Given the description of an element on the screen output the (x, y) to click on. 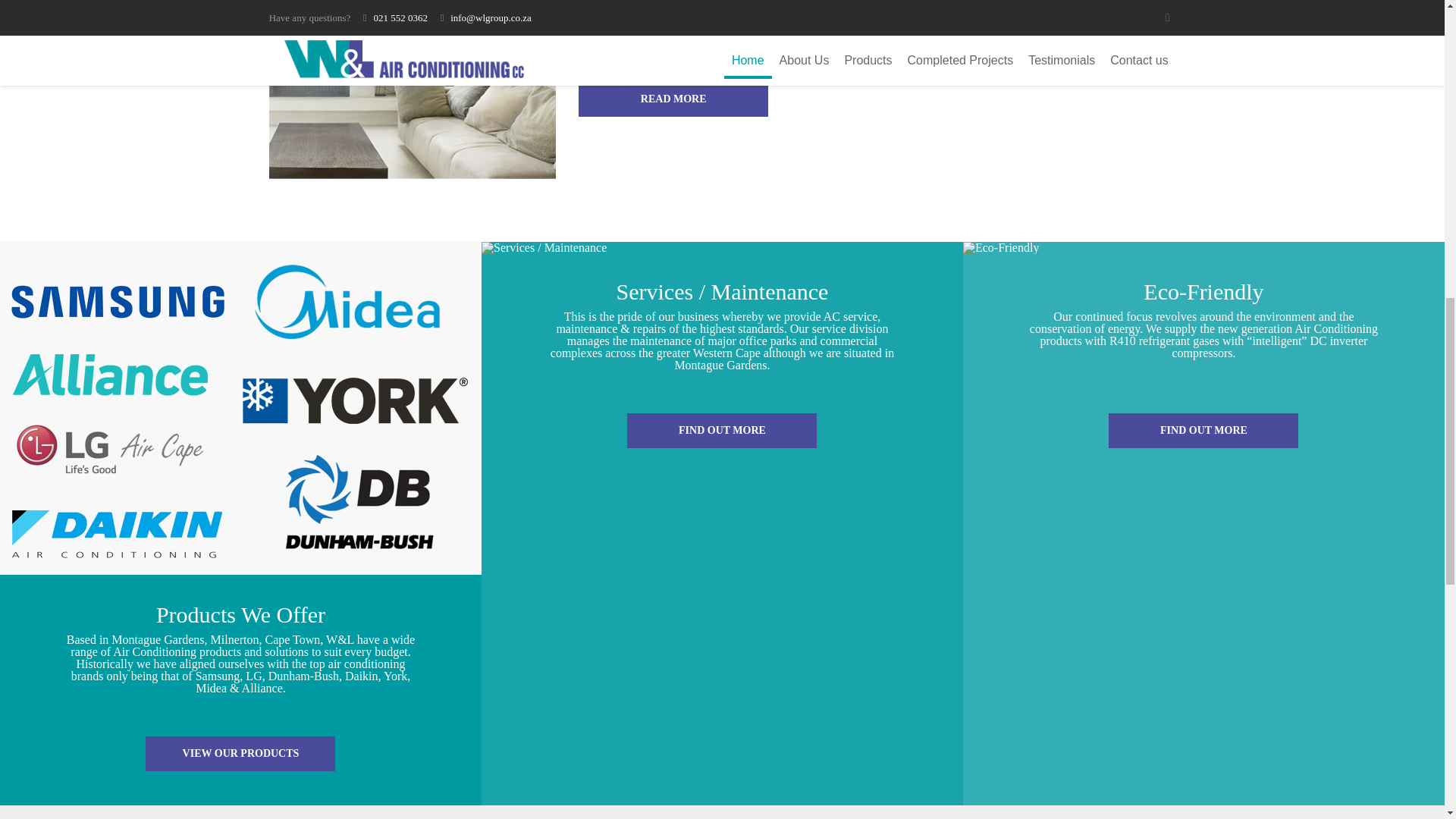
READ MORE (673, 99)
VIEW OUR PRODUCTS (239, 753)
FIND OUT MORE (721, 430)
FIND OUT MORE (1203, 430)
